Given the description of an element on the screen output the (x, y) to click on. 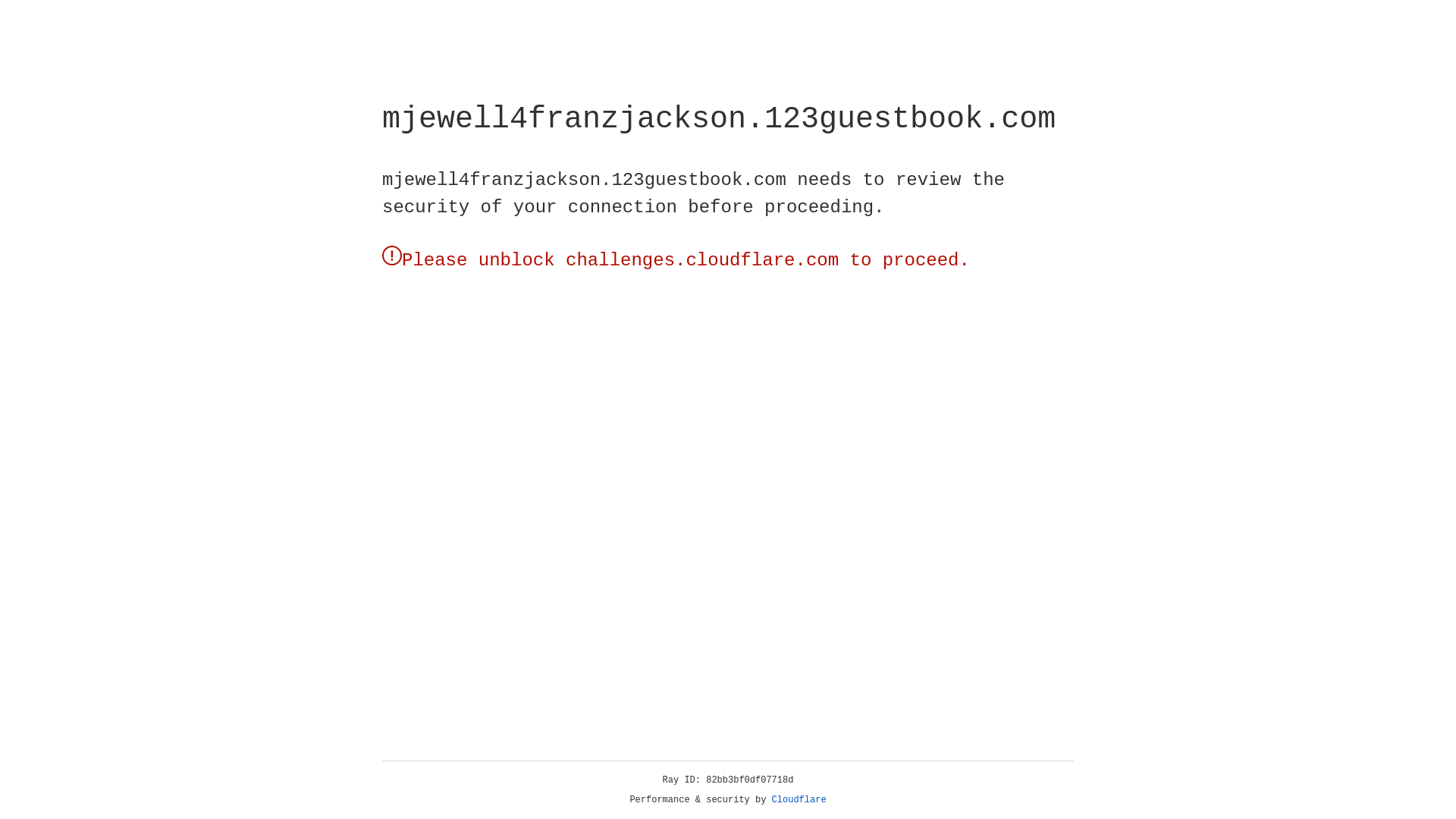
Cloudflare Element type: text (798, 799)
